Given the description of an element on the screen output the (x, y) to click on. 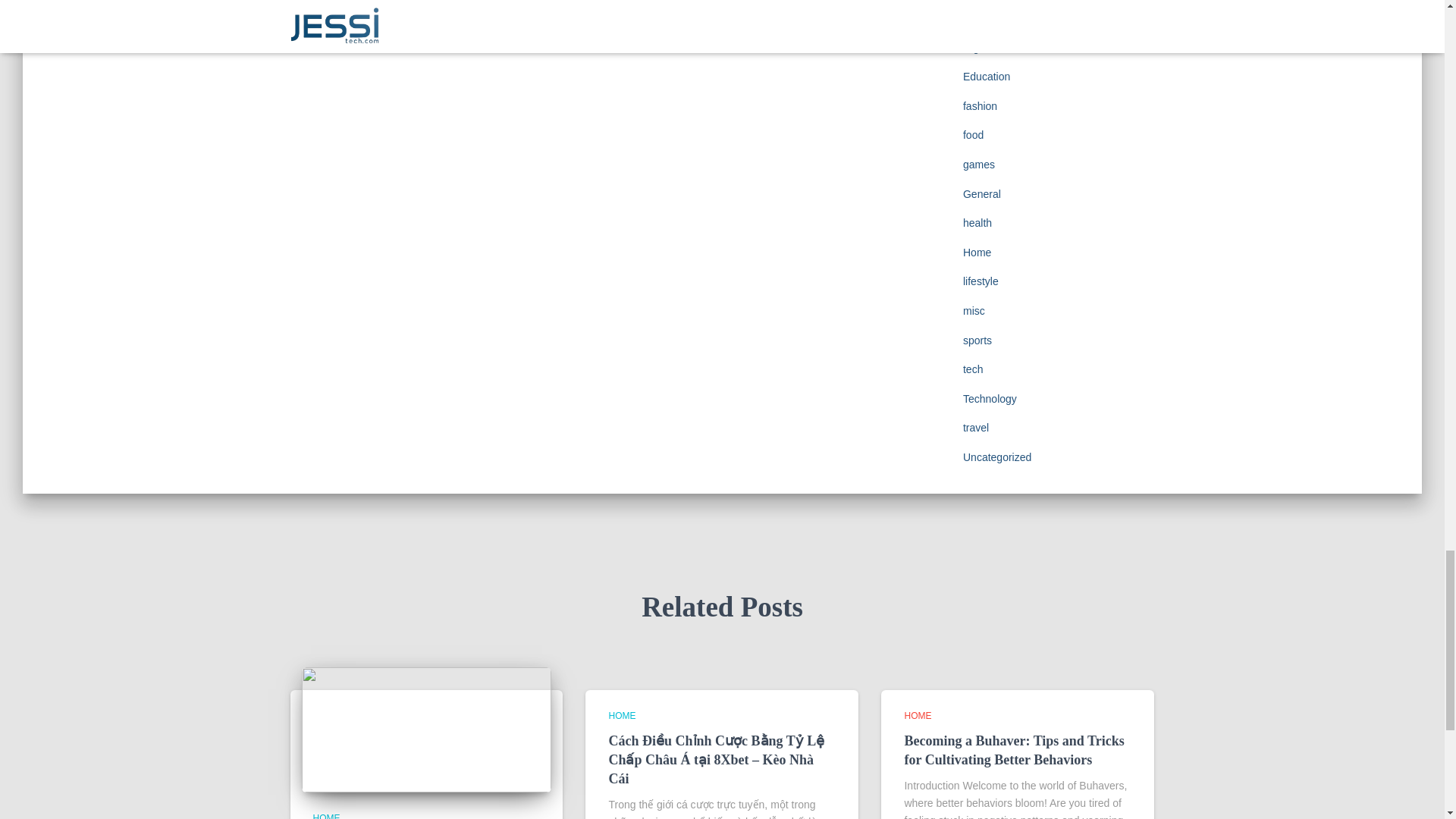
View all posts in Home (917, 715)
View all posts in Home (621, 715)
Dock Repair: Preserving Your Waterfront Investment (426, 729)
View all posts in Home (326, 816)
